Given the description of an element on the screen output the (x, y) to click on. 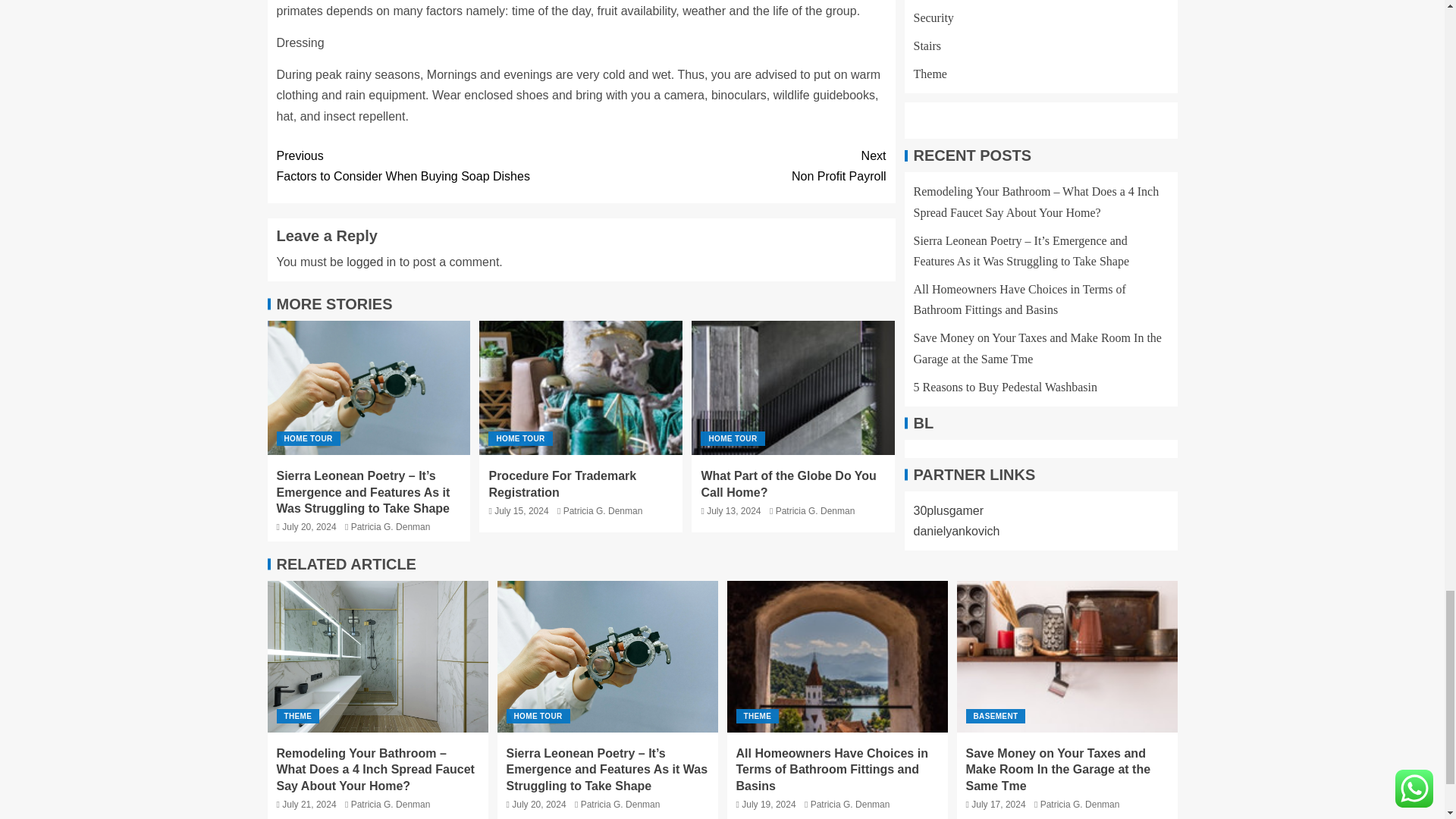
Procedure For Trademark Registration (732, 165)
Patricia G. Denman (428, 165)
HOME TOUR (580, 388)
What Part of the Globe Do You Call Home? (603, 511)
Patricia G. Denman (732, 438)
HOME TOUR (788, 483)
logged in (390, 526)
Procedure For Trademark Registration (519, 438)
What Part of the Globe Do You Call Home? (371, 261)
Patricia G. Denman (561, 483)
HOME TOUR (793, 388)
